Given the description of an element on the screen output the (x, y) to click on. 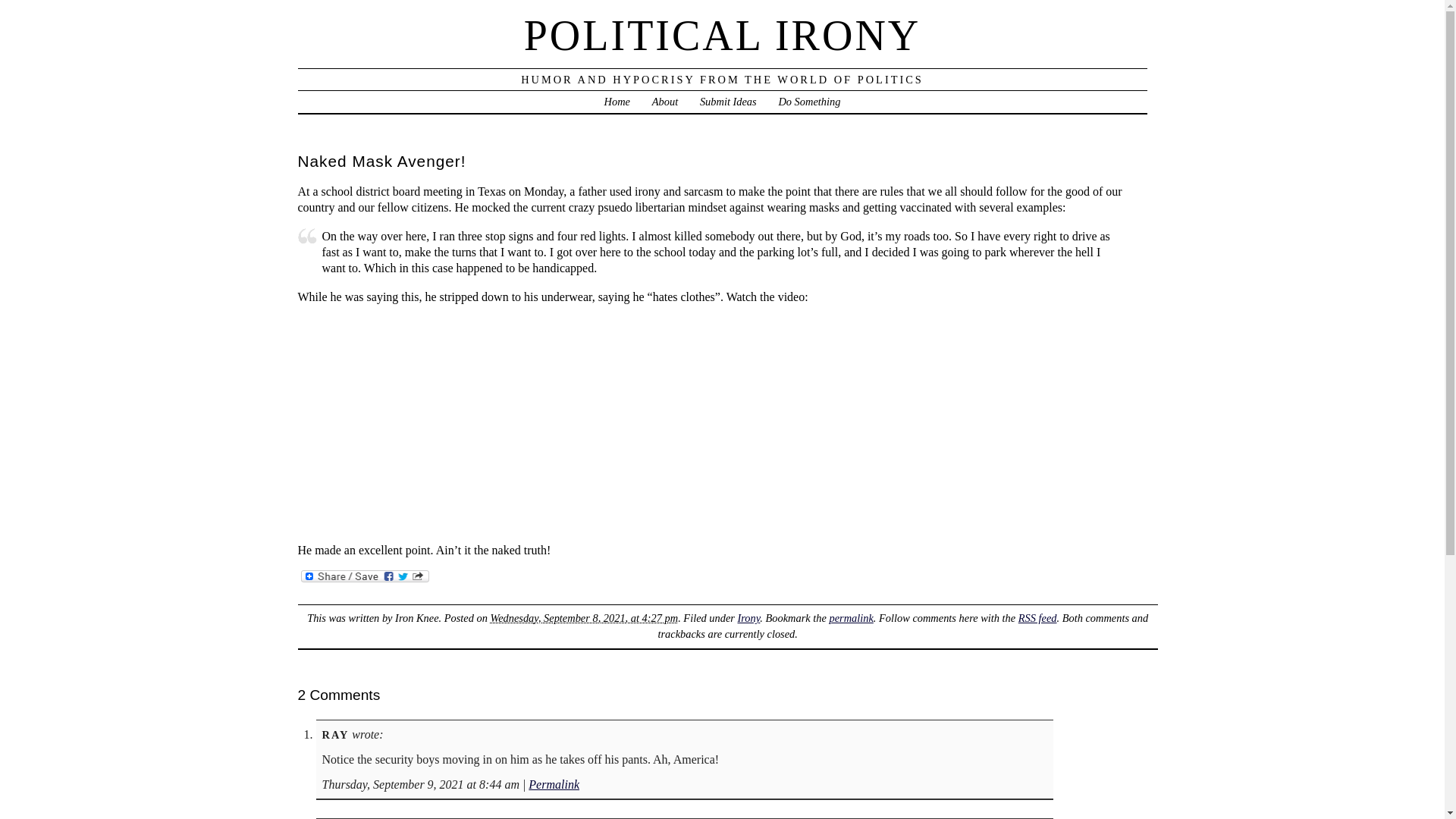
About (665, 101)
Do Something (808, 101)
Submit Ideas (728, 101)
Political Irony (722, 35)
POLITICAL IRONY (722, 35)
Permalink to this comment (553, 784)
Irony (748, 617)
Permalink to Naked Mask Avenger! (850, 617)
Permalink (553, 784)
2021-09-08T16:27:59-0600 (583, 617)
permalink (850, 617)
Political Irony (617, 101)
Home (617, 101)
Comments RSS to Naked Mask Avenger! (1037, 617)
